Given the description of an element on the screen output the (x, y) to click on. 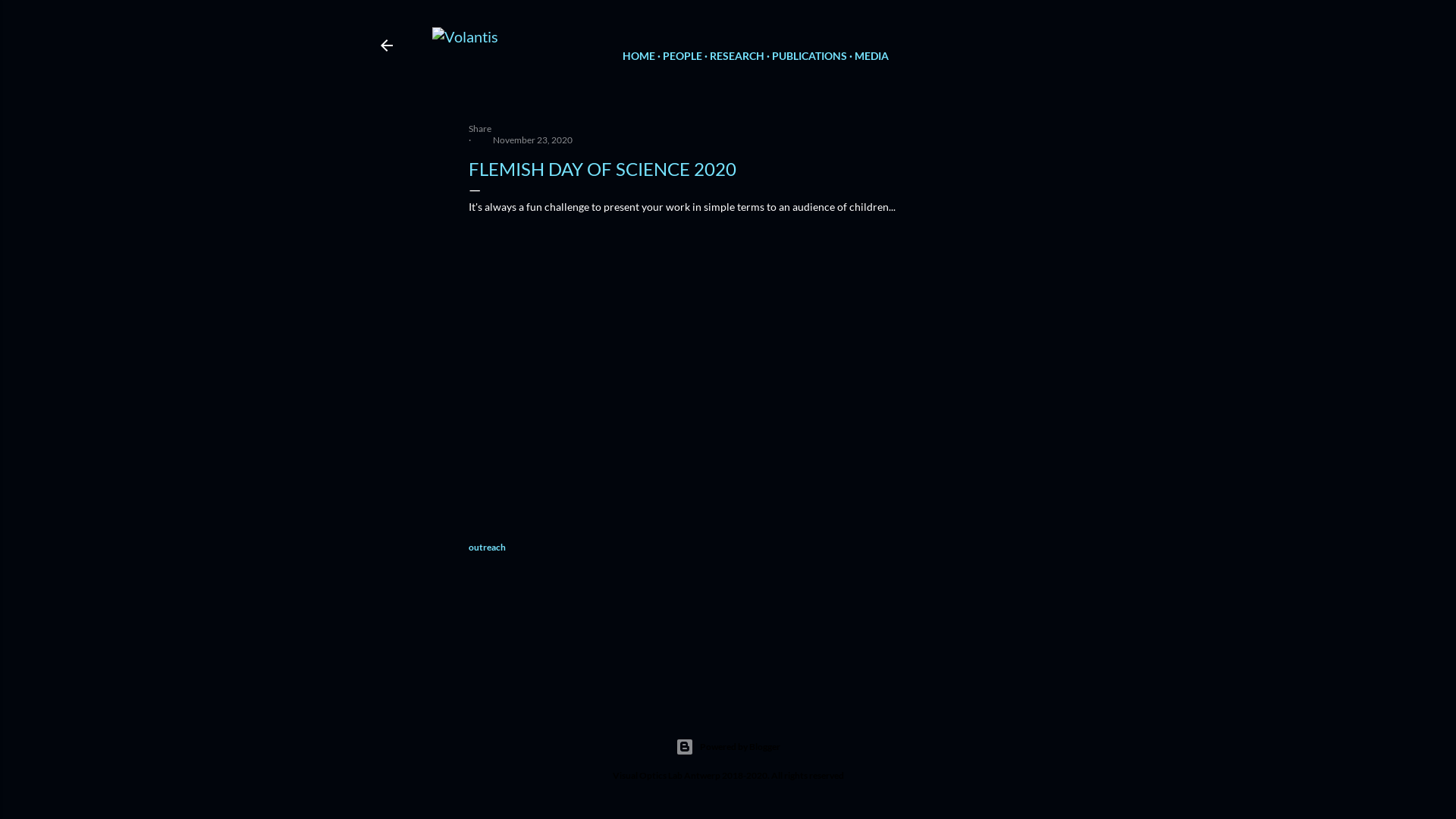
MEDIA Element type: text (870, 55)
outreach Element type: text (486, 546)
PUBLICATIONS Element type: text (809, 55)
Share Element type: text (479, 128)
HOME Element type: text (637, 55)
PEOPLE Element type: text (682, 55)
November 23, 2020 Element type: text (532, 139)
RESEARCH Element type: text (736, 55)
